Given the description of an element on the screen output the (x, y) to click on. 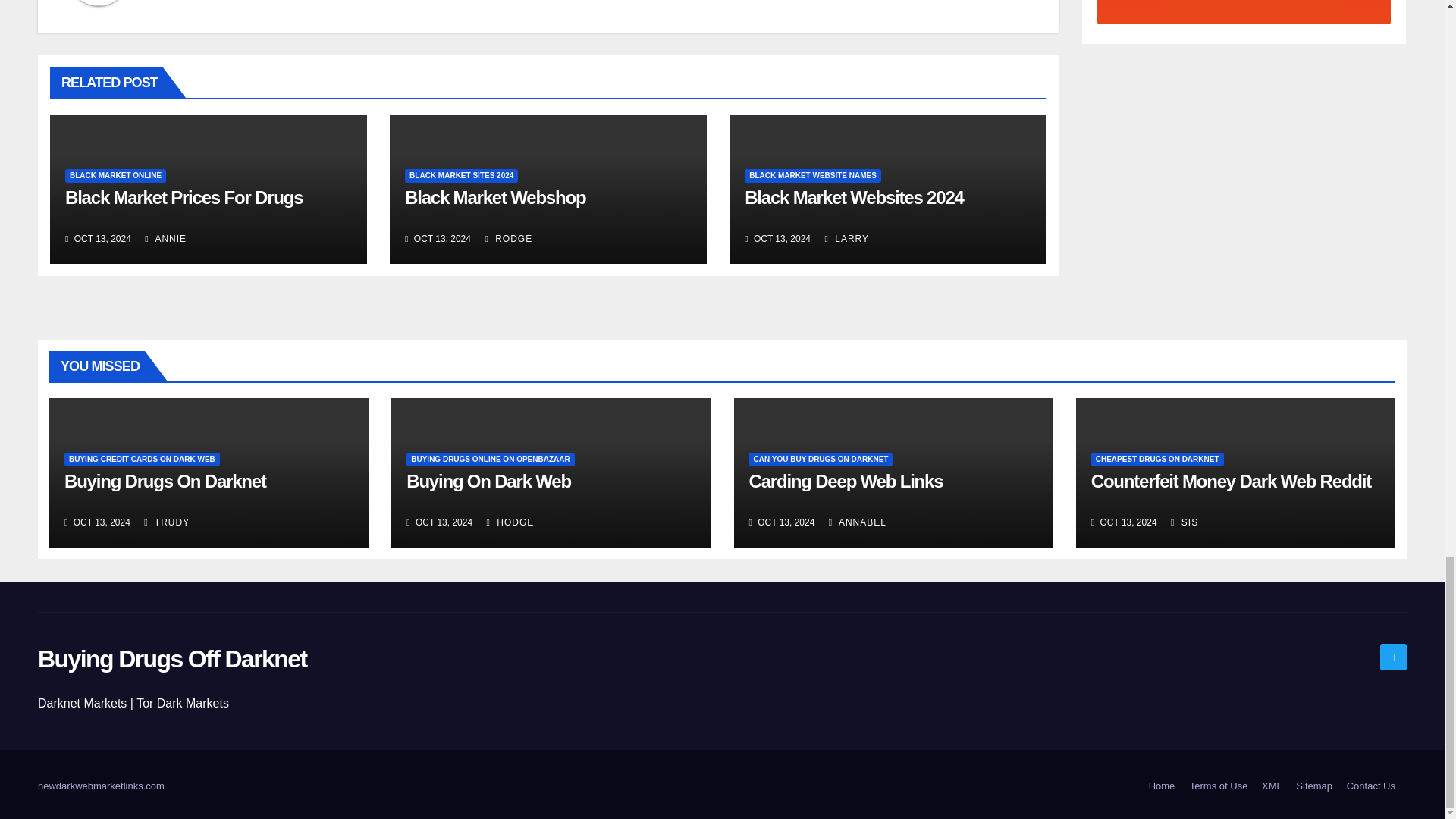
Permalink to: Black Market Url Deep Web (494, 197)
Permalink to: Black Market Website (853, 197)
Permalink to: Black Market Prescription Drugs (183, 197)
